Given the description of an element on the screen output the (x, y) to click on. 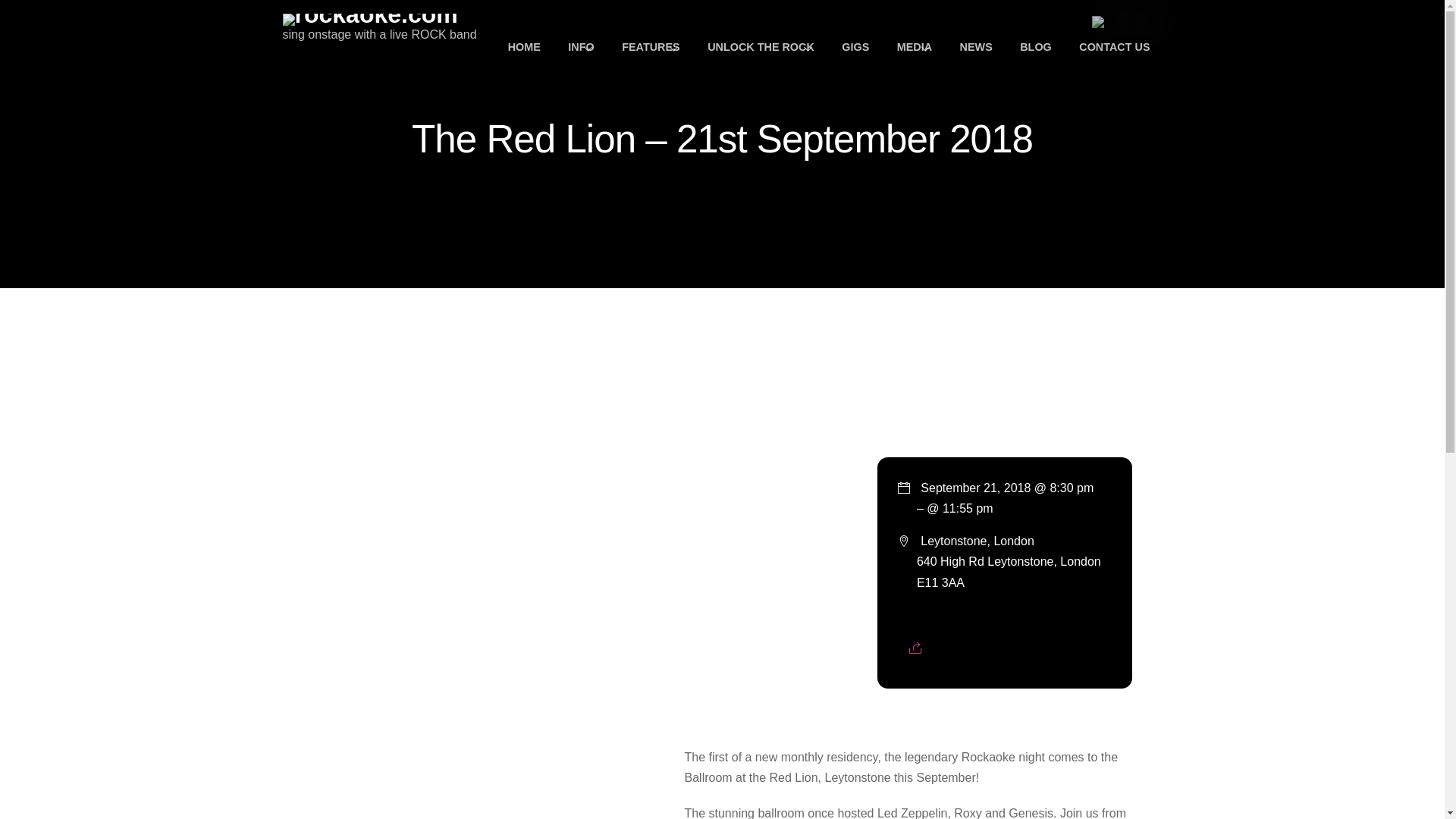
INFO (580, 47)
FEATURES (651, 47)
HOME (524, 47)
UNLOCK THE ROCK (761, 47)
rockaoke.com (369, 13)
GIGS (854, 47)
